Given the description of an element on the screen output the (x, y) to click on. 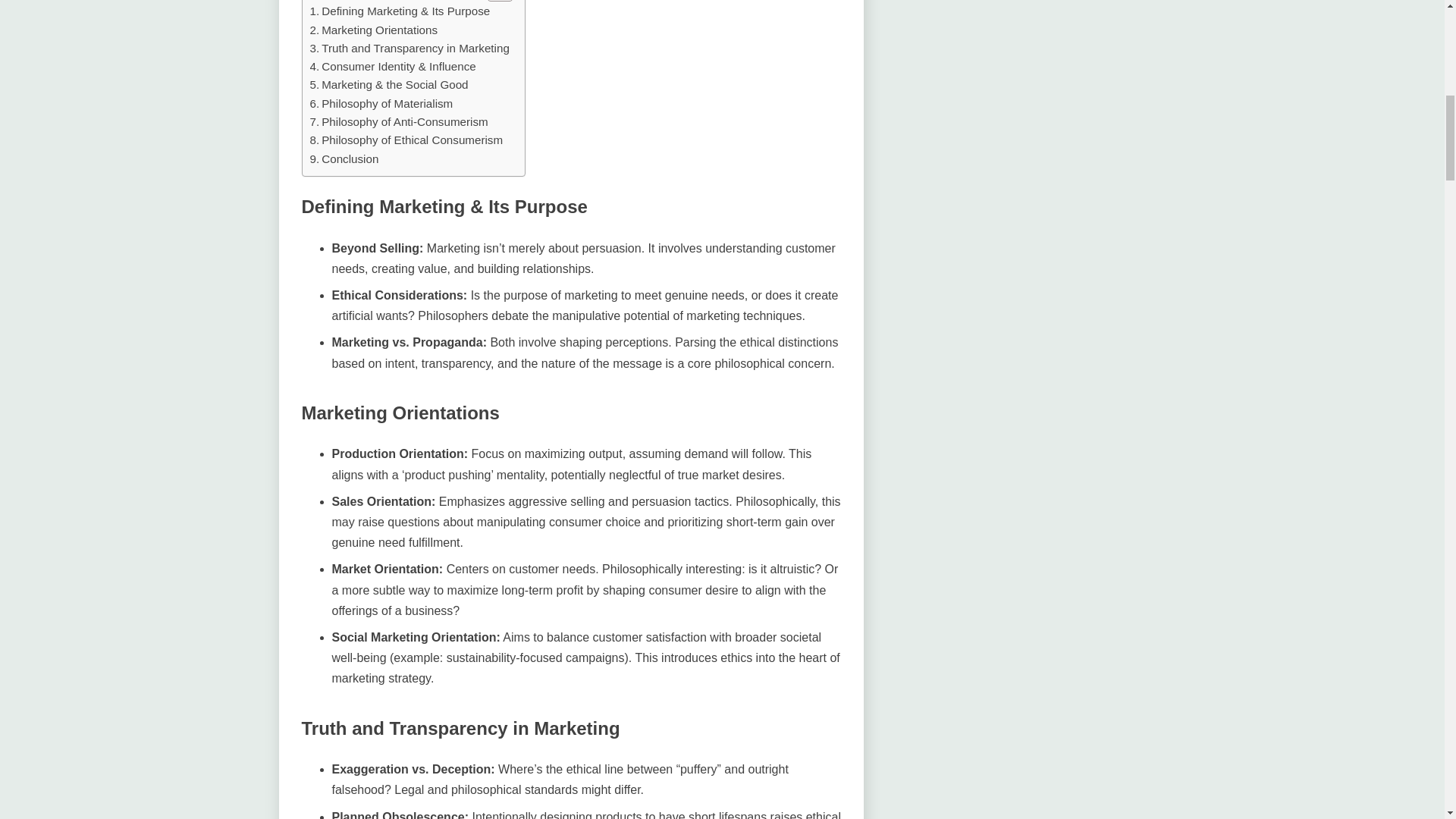
Marketing Orientations (373, 30)
Truth and Transparency in Marketing (408, 48)
Philosophy of Materialism (380, 104)
Philosophy of Materialism (380, 104)
Philosophy of Ethical Consumerism (405, 140)
Truth and Transparency in Marketing (408, 48)
Philosophy of Anti-Consumerism (397, 122)
Philosophy of Anti-Consumerism (397, 122)
Marketing Orientations (373, 30)
Conclusion (343, 158)
